Given the description of an element on the screen output the (x, y) to click on. 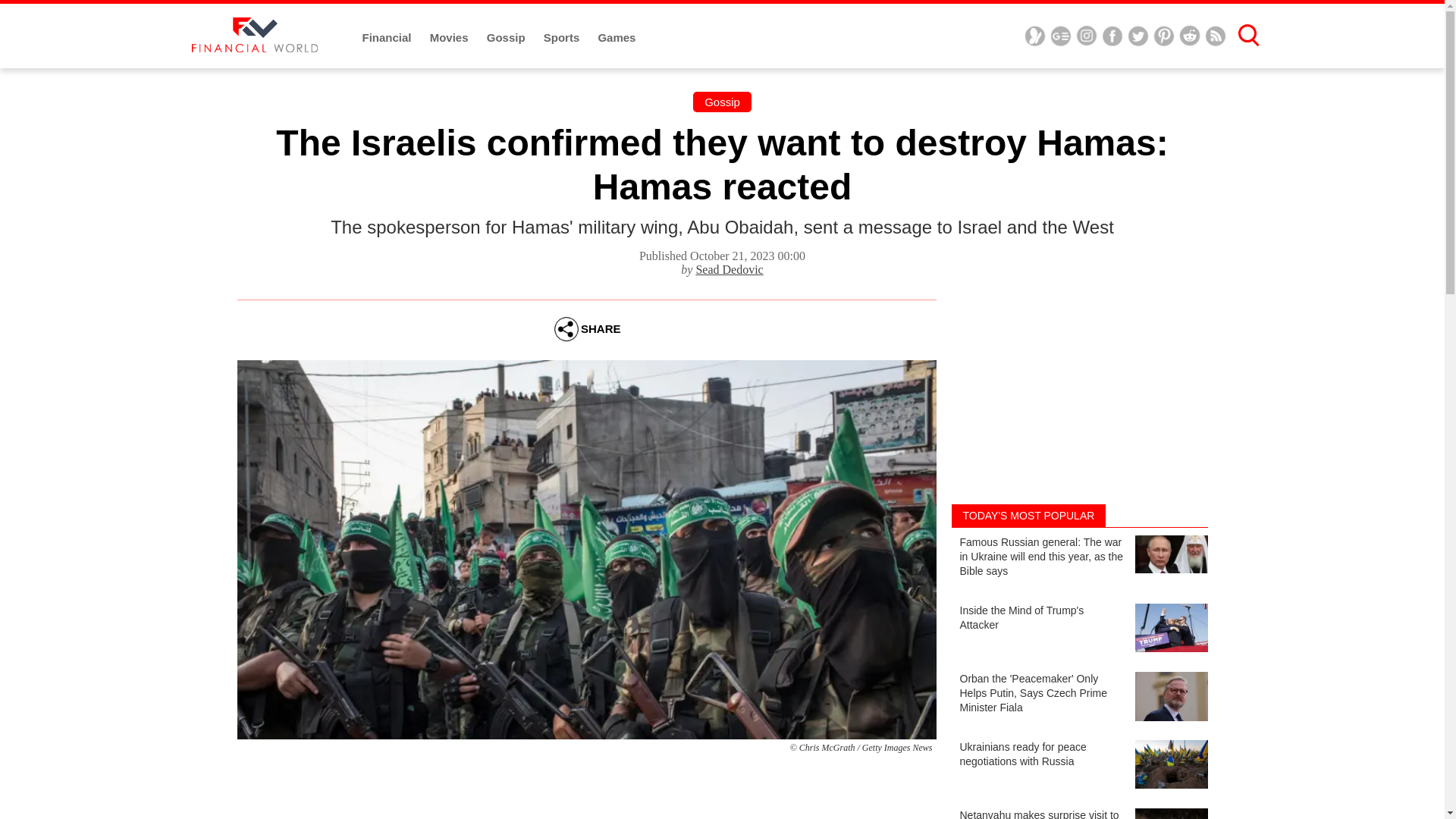
Gossip (507, 37)
Ukrainians ready for peace negotiations with Russia (1078, 766)
Movies (450, 37)
Inside the Mind of Trump's Attacker (1078, 629)
Games (615, 37)
Gossip (721, 101)
Sports (563, 37)
Netanyahu makes surprise visit to southern Gaza (1078, 813)
Financial (388, 37)
Sead Dedovic (728, 269)
